Given the description of an element on the screen output the (x, y) to click on. 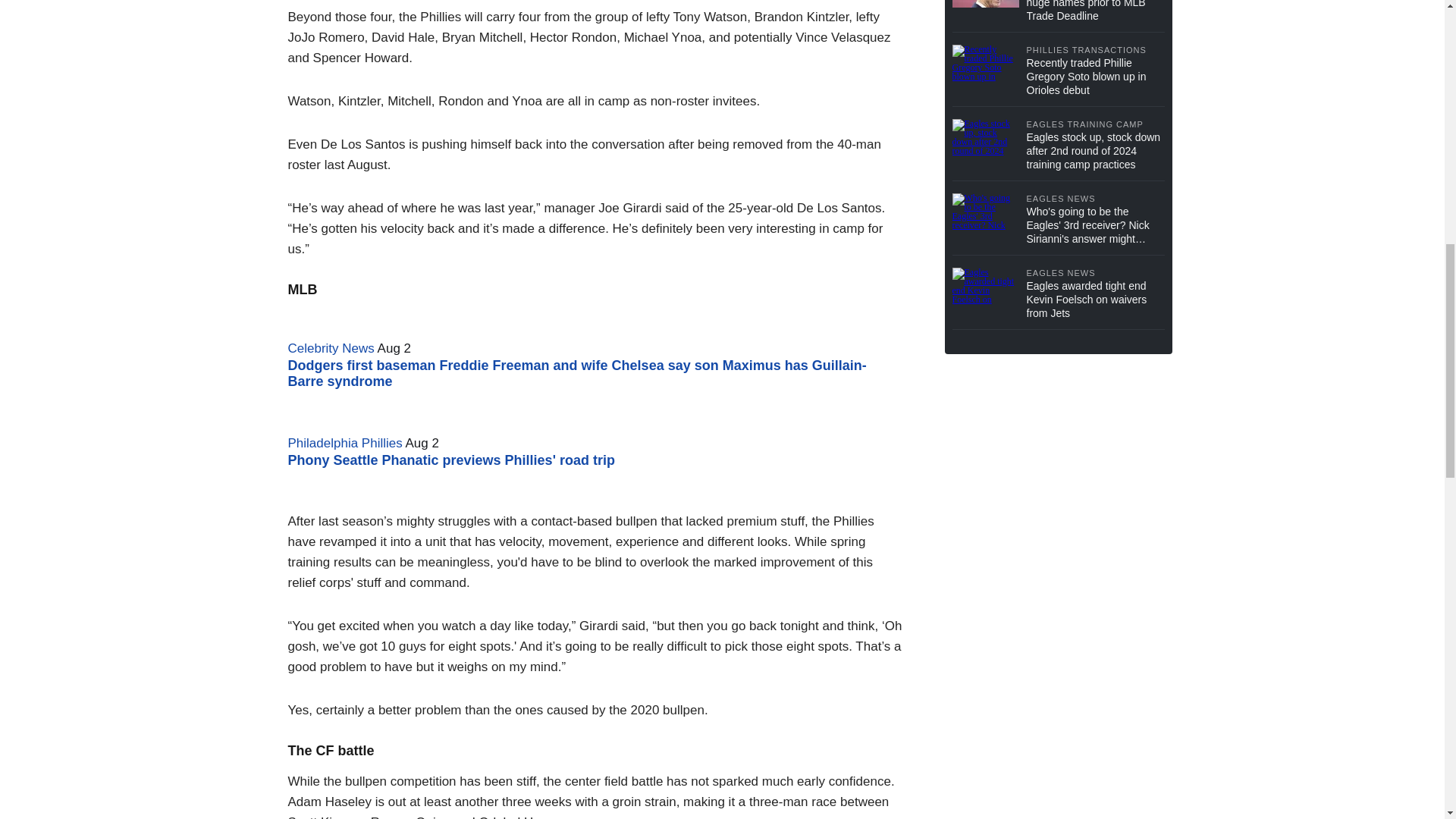
Phony Seattle Phanatic previews Phillies' road trip (451, 459)
Celebrity News (331, 348)
Philadelphia Phillies (345, 442)
